Given the description of an element on the screen output the (x, y) to click on. 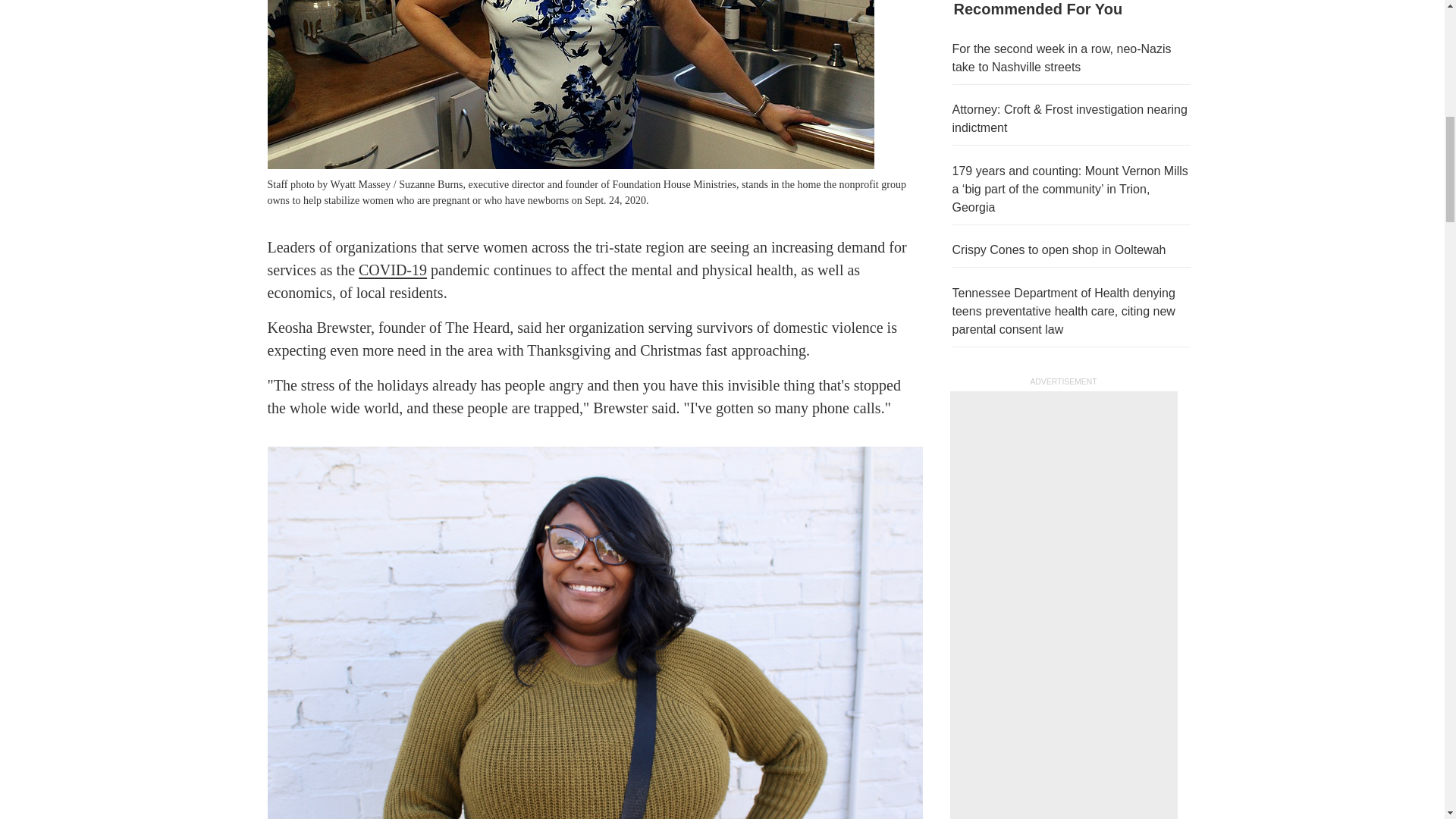
Crispy Cones to open shop in Ooltewah (1059, 249)
